Given the description of an element on the screen output the (x, y) to click on. 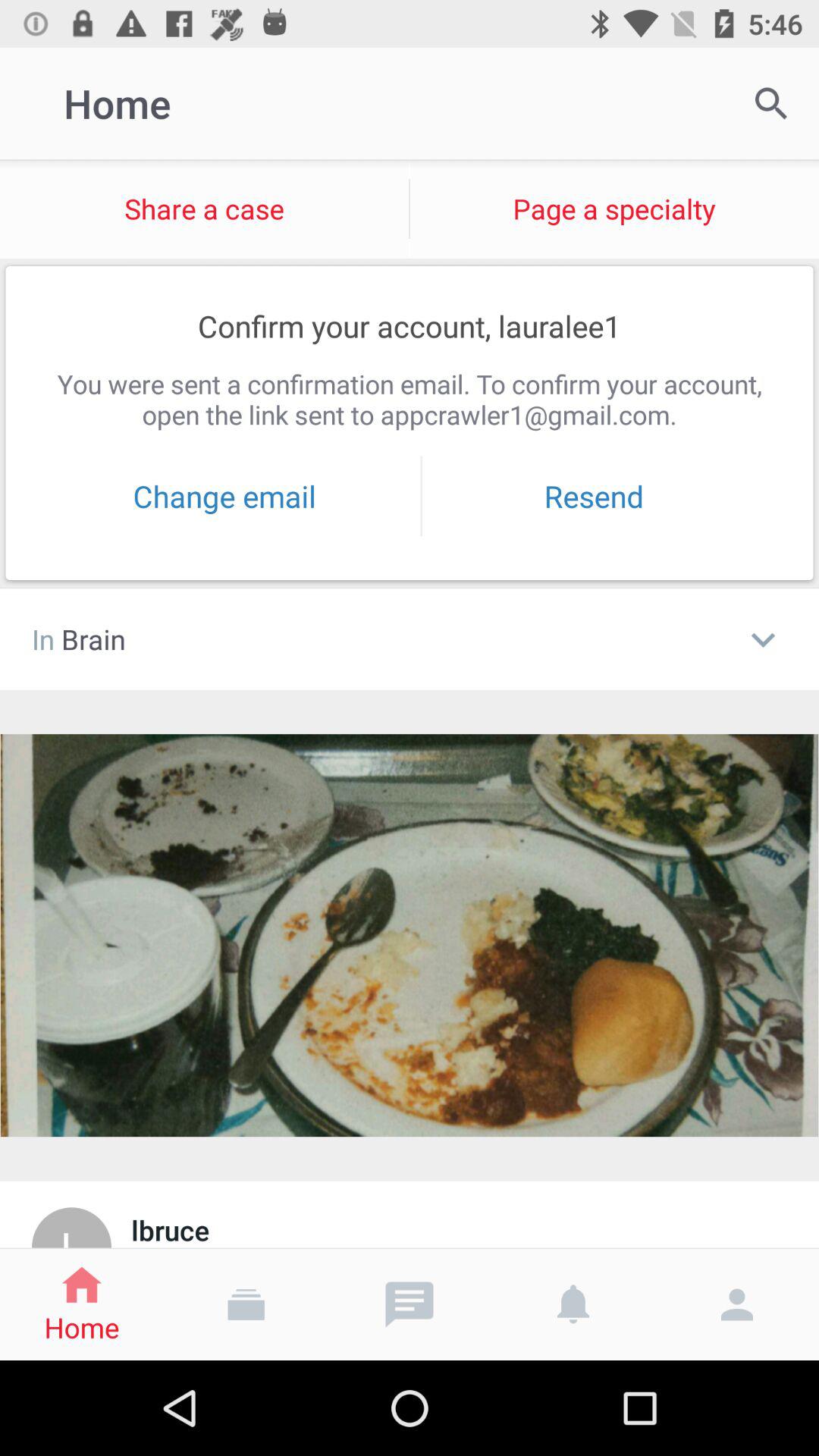
launch icon next to share a case icon (771, 103)
